Given the description of an element on the screen output the (x, y) to click on. 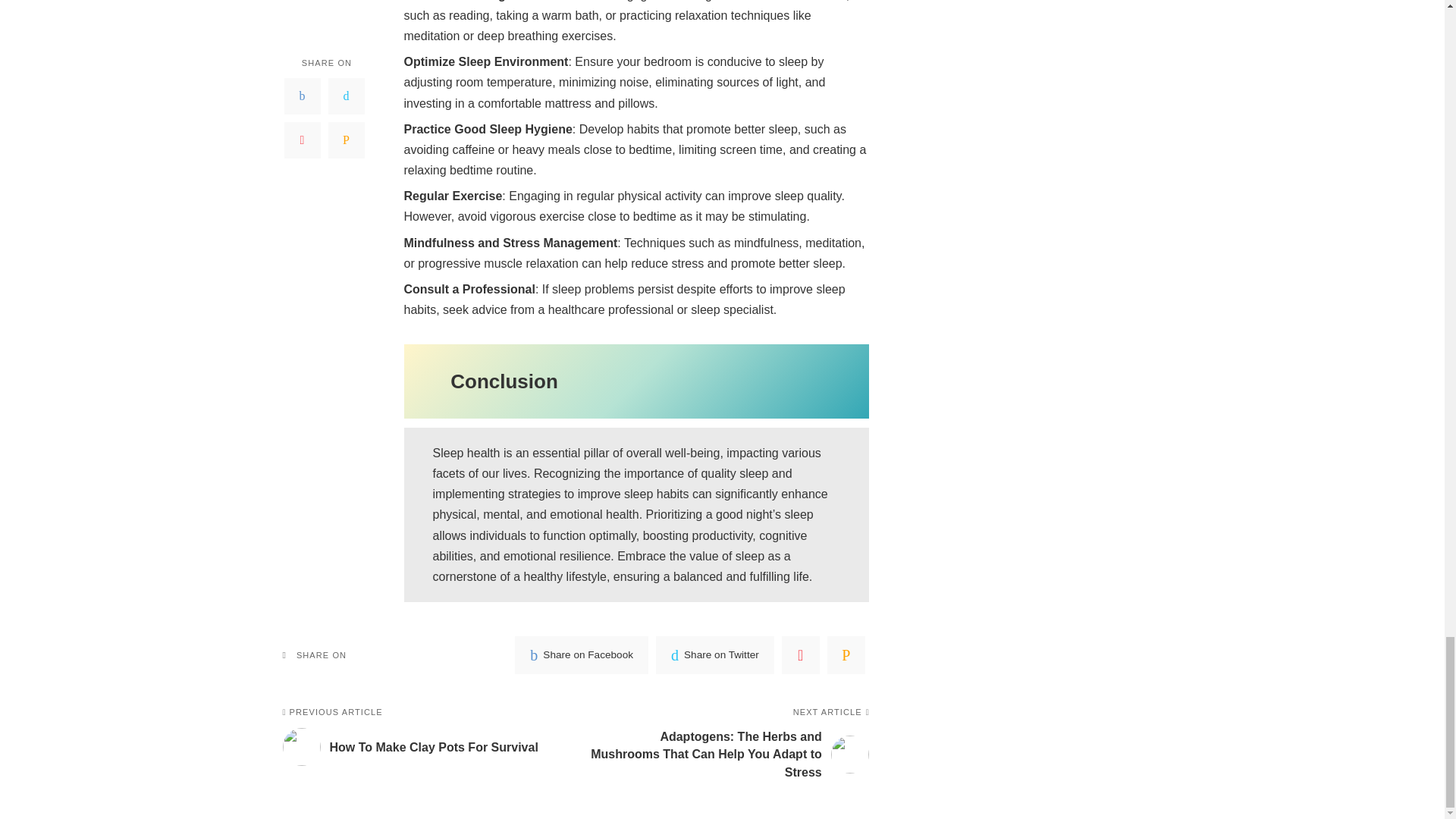
Share on Twitter (715, 655)
Twitter (715, 655)
Share on Facebook (581, 655)
Facebook (581, 655)
